Given the description of an element on the screen output the (x, y) to click on. 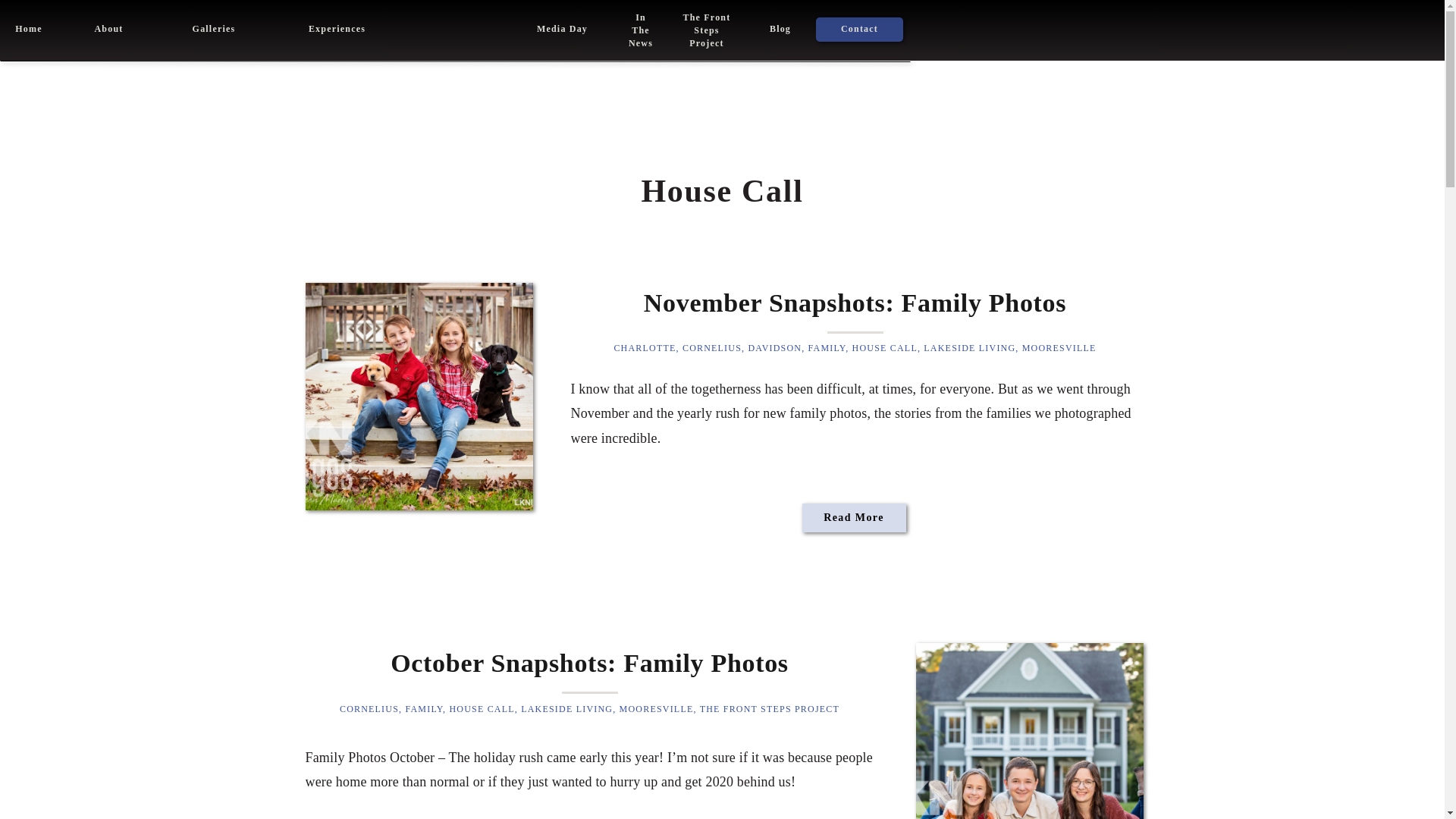
Blog (780, 28)
Media Day (561, 28)
Contact (705, 30)
October Snapshots: Family Photos (858, 28)
Experiences (1028, 730)
About (337, 28)
Galleries (108, 28)
Home (640, 30)
November Snapshots: Family Photos (212, 28)
November Snapshots: Family Photos (28, 28)
